Given the description of an element on the screen output the (x, y) to click on. 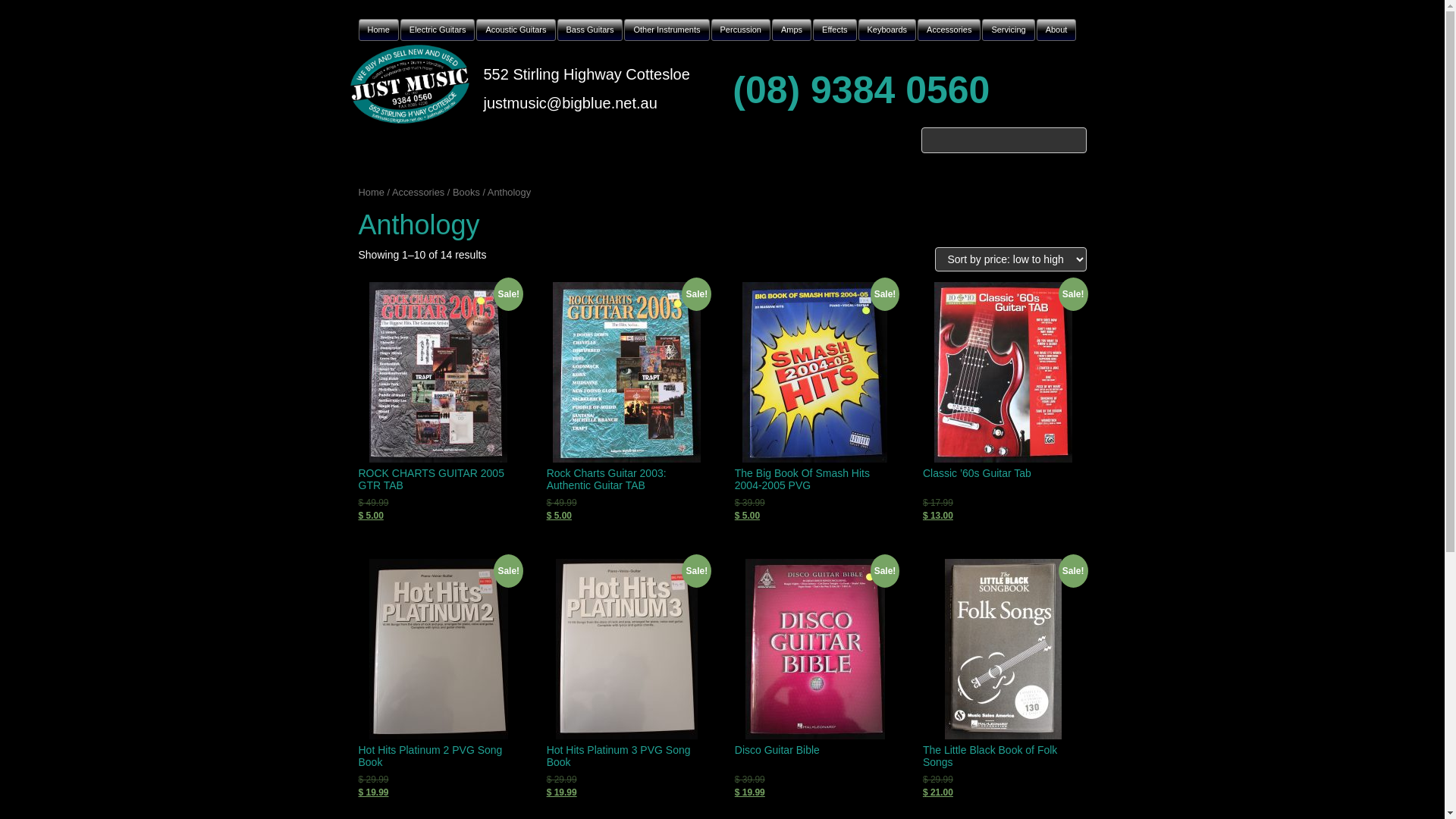
Home Element type: text (370, 191)
Percussion Element type: text (740, 29)
Sale!
Disco Guitar Bible
$ 39.99
$ 19.99 Element type: text (814, 678)
Servicing Element type: text (1008, 29)
Effects Element type: text (834, 29)
About Element type: text (1056, 29)
Electric Guitars Element type: text (437, 29)
Bass Guitars Element type: text (590, 29)
Acoustic Guitars Element type: text (515, 29)
Other Instruments Element type: text (666, 29)
Just Music Element type: hover (409, 83)
Sale!
ROCK CHARTS GUITAR 2005 GTR TAB
$ 49.99
$ 5.00 Element type: text (437, 402)
Sale!
Hot Hits Platinum 3 PVG Song Book
$ 29.99
$ 19.99 Element type: text (626, 678)
Amps Element type: text (791, 29)
Keyboards Element type: text (887, 29)
Accessories Element type: text (418, 191)
Books Element type: text (466, 191)
Sale!
Hot Hits Platinum 2 PVG Song Book
$ 29.99
$ 19.99 Element type: text (437, 678)
Sale!
The Little Black Book of Folk Songs
$ 29.99
$ 21.00 Element type: text (1002, 678)
Home Element type: text (377, 29)
Accessories Element type: text (948, 29)
Search Element type: text (1073, 134)
